Given the description of an element on the screen output the (x, y) to click on. 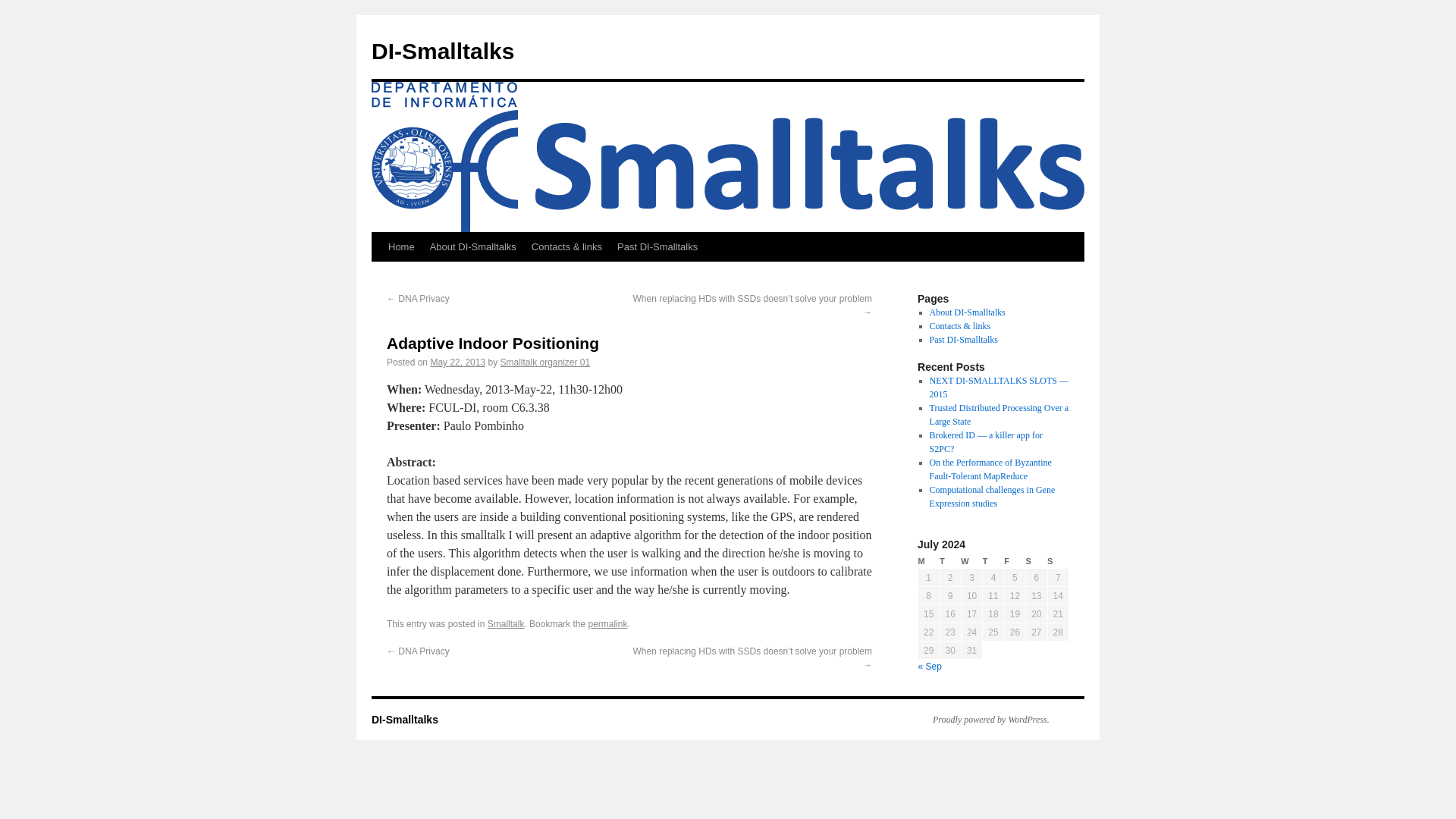
Past DI-Smalltalks (657, 246)
permalink (607, 624)
Permalink to Adaptive Indoor Positioning (607, 624)
View all posts by Smalltalk organizer 01 (544, 362)
Smalltalk organizer 01 (544, 362)
Trusted Distributed Processing Over a Large State (999, 414)
DI-Smalltalks (442, 50)
Past DI-Smalltalks (963, 339)
View all posts in Smalltalk (505, 624)
On the Performance of Byzantine Fault-Tolerant MapReduce (990, 469)
About DI-Smalltalks (968, 312)
Home (401, 246)
11:30 (456, 362)
Computational challenges in Gene Expression studies (992, 496)
About DI-Smalltalks (968, 312)
